Given the description of an element on the screen output the (x, y) to click on. 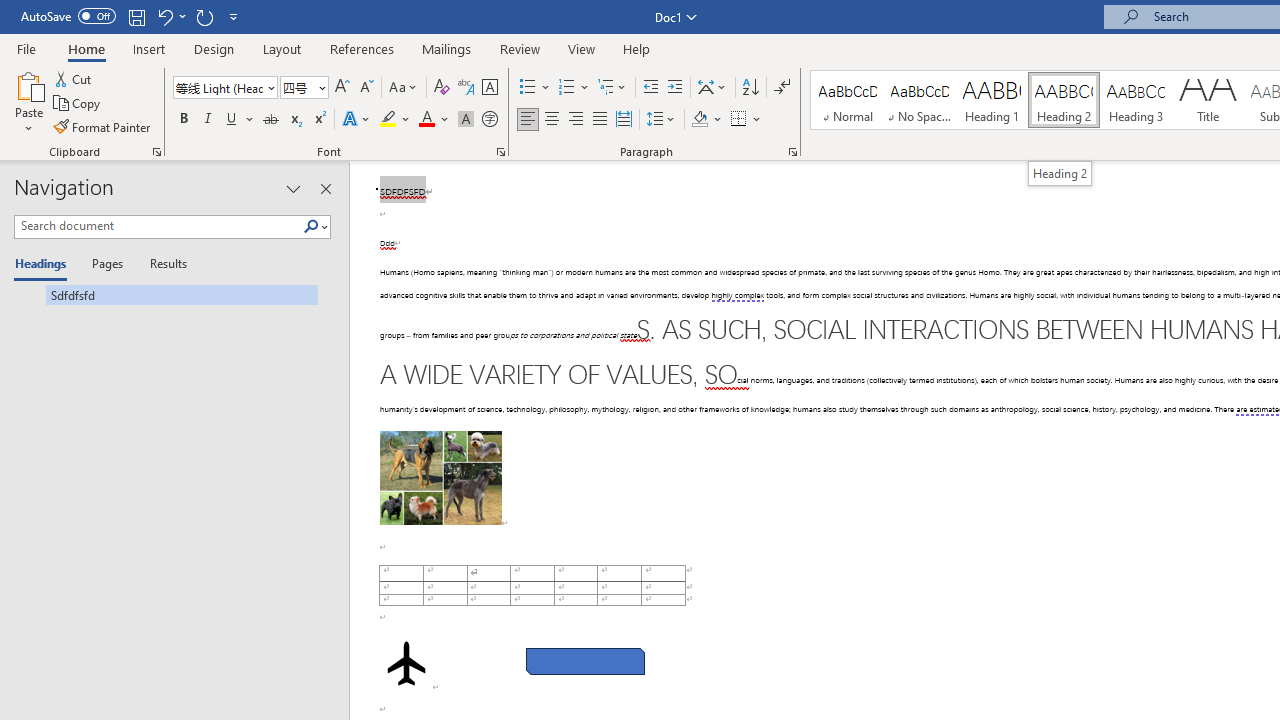
Repeat Style (204, 15)
Font Color Red (426, 119)
Clear Formatting (442, 87)
Paragraph... (792, 151)
Sort... (750, 87)
Cut (73, 78)
Title (1208, 100)
Text Highlight Color Yellow (388, 119)
Airplane with solid fill (406, 663)
